Given the description of an element on the screen output the (x, y) to click on. 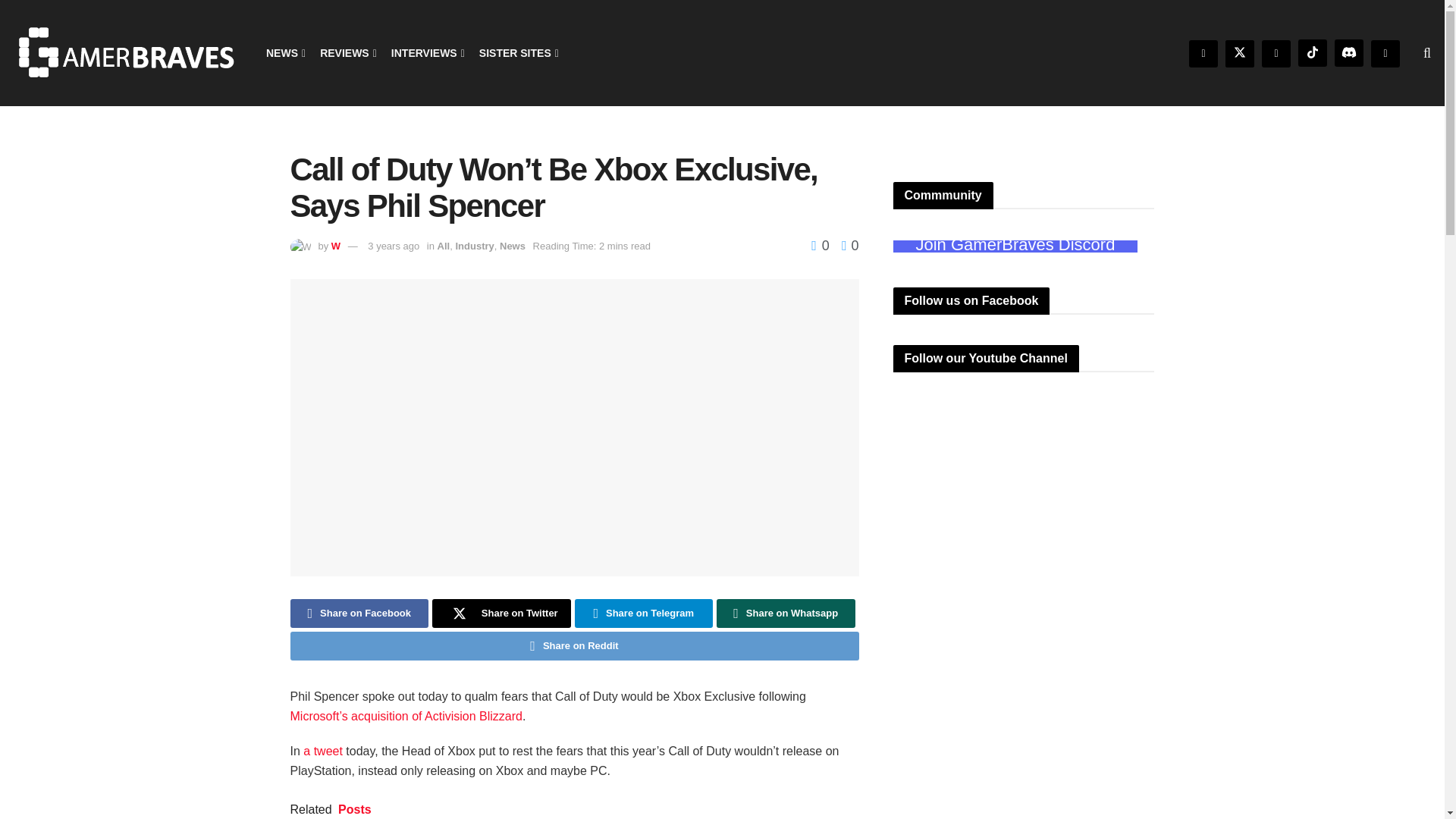
NEWS (284, 52)
